Given the description of an element on the screen output the (x, y) to click on. 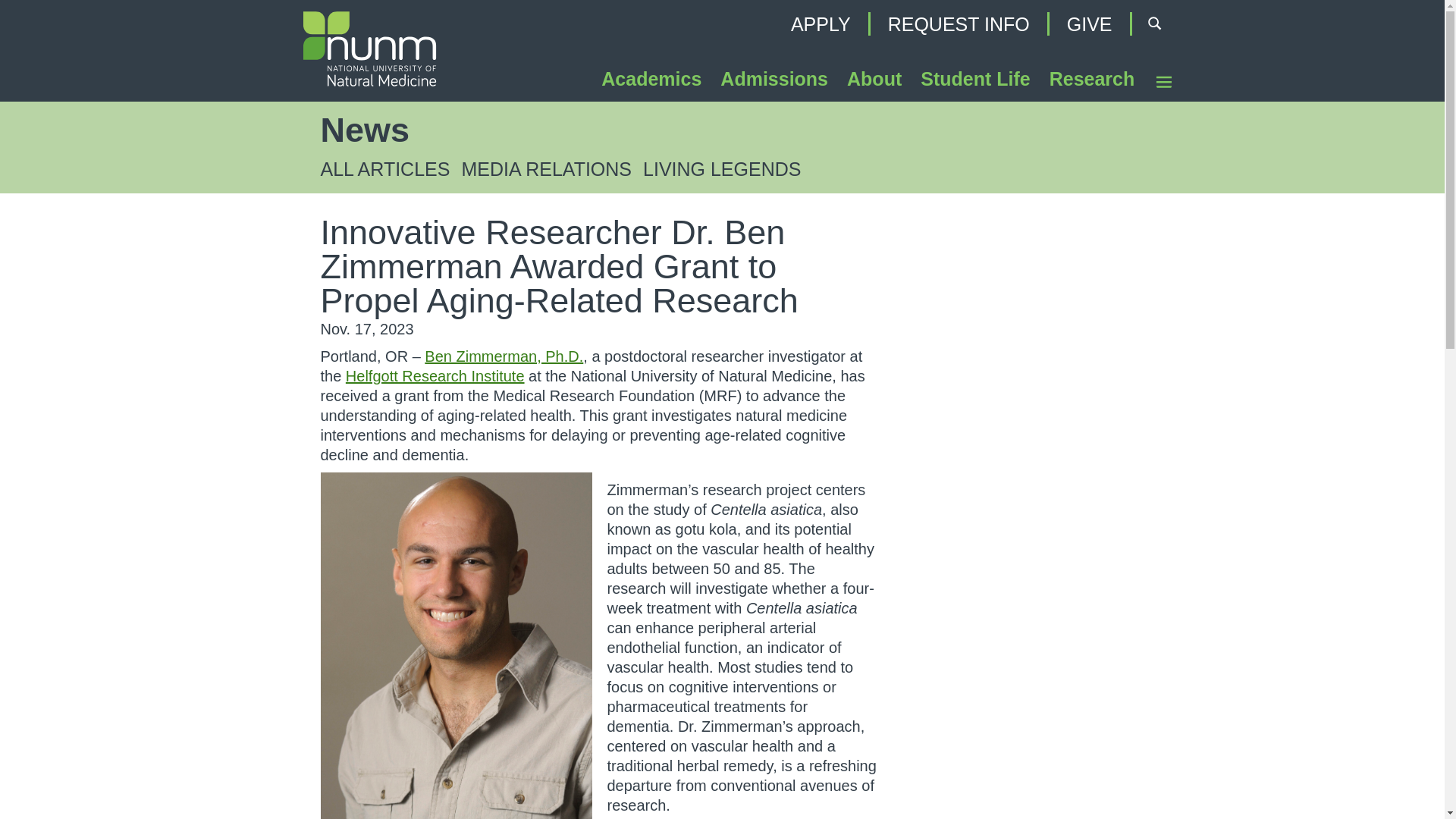
GIVE (1089, 24)
ALL ARTICLES (384, 168)
REQUEST INFO (958, 24)
Admissions (773, 82)
Open search form (1153, 23)
About (874, 82)
APPLY (820, 24)
Student Life (975, 82)
View more links (1164, 80)
NUNM Homepage (370, 109)
Helfgott Research Institute (435, 375)
Ben Zimmerman, Ph.D. (504, 356)
LIVING LEGENDS (721, 168)
Research (1091, 82)
MEDIA RELATIONS (546, 168)
